Given the description of an element on the screen output the (x, y) to click on. 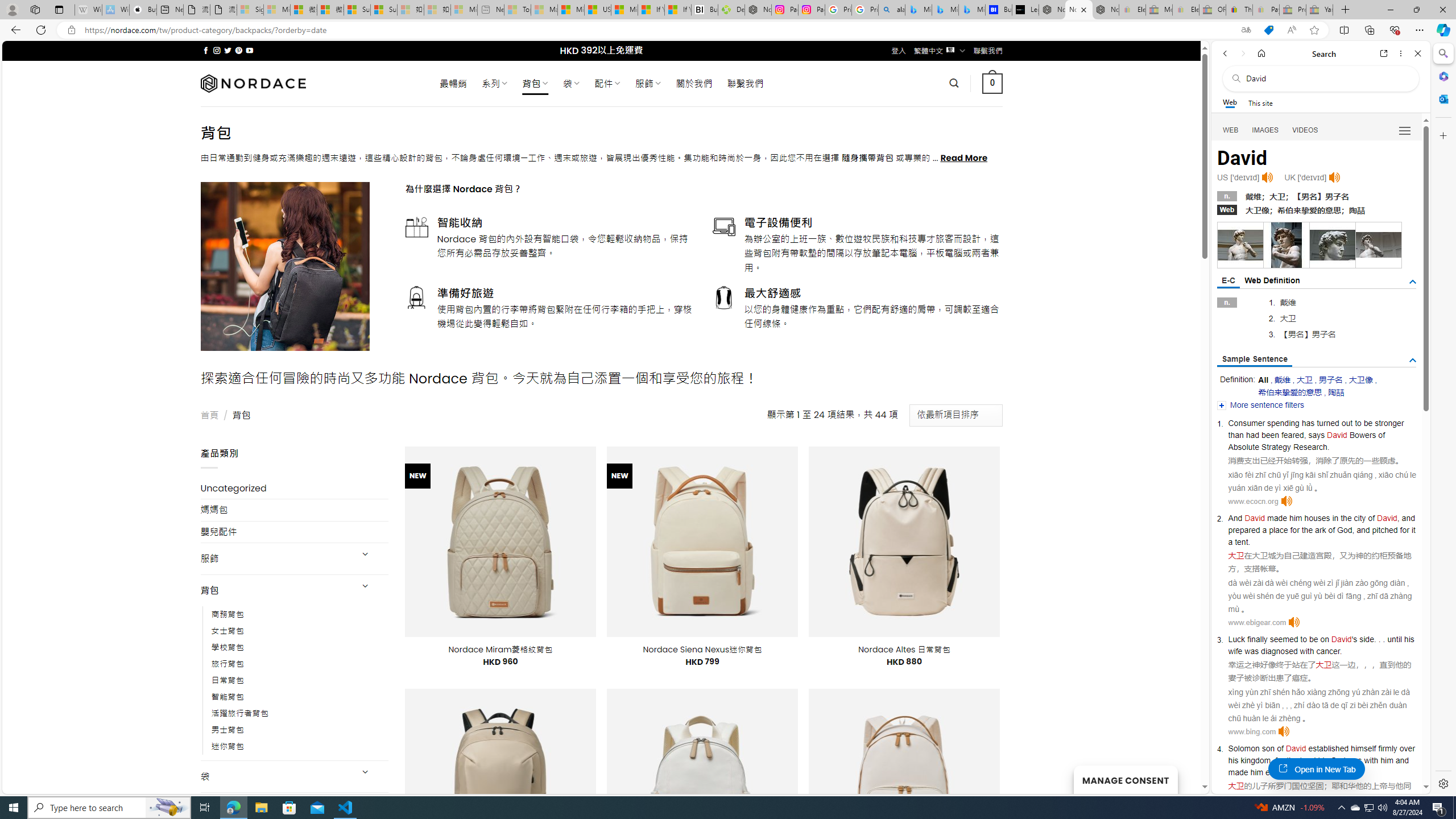
Side bar (1443, 418)
Nordace (252, 83)
Solomon (1243, 747)
exceedingly (1286, 772)
Follow on Pinterest (237, 50)
turned (1327, 422)
in (1335, 517)
